Given the description of an element on the screen output the (x, y) to click on. 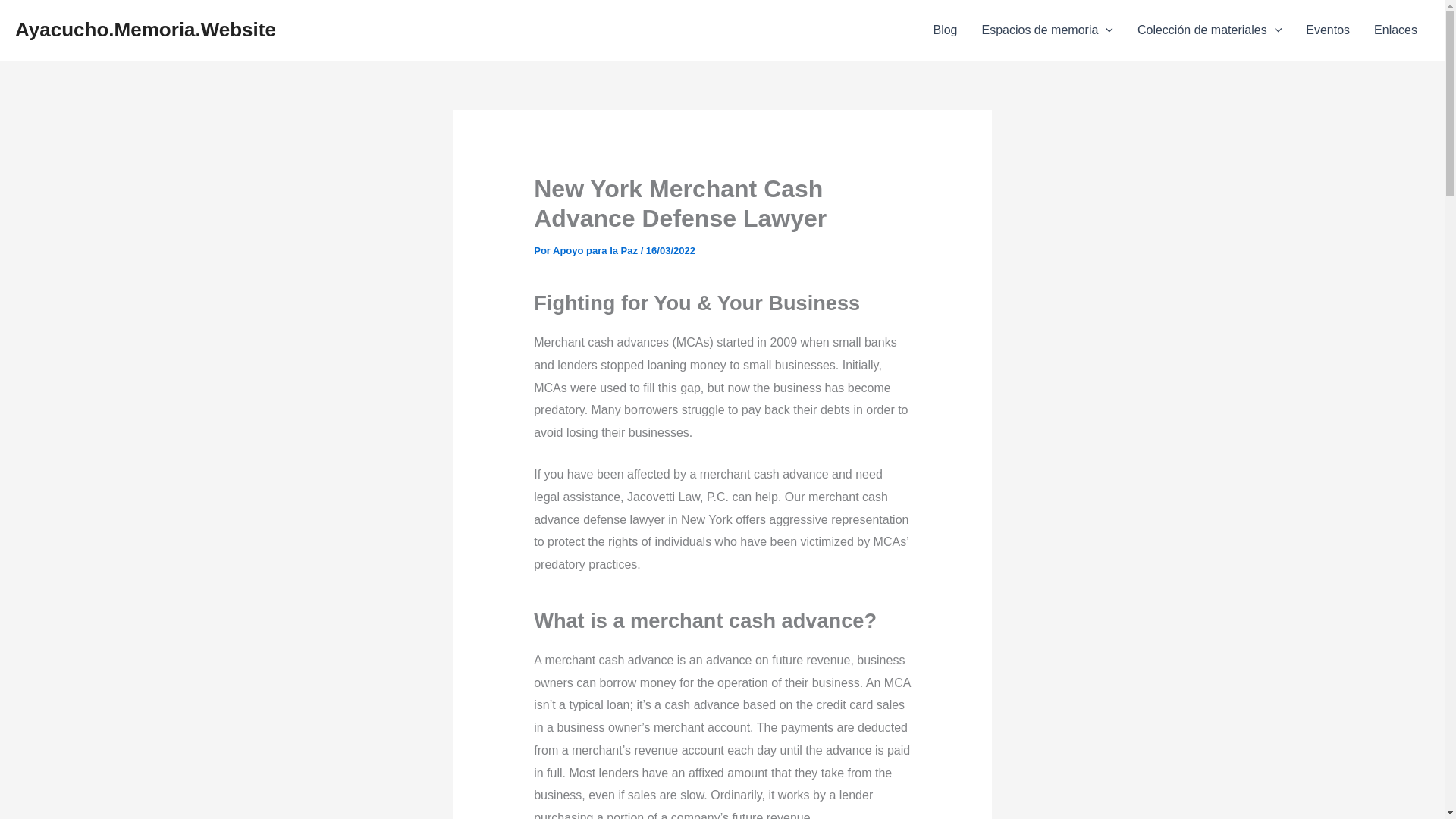
Apoyo para la Paz (596, 250)
Eventos (1327, 30)
Ver todas las entradas de Apoyo para la Paz (596, 250)
Enlaces (1395, 30)
Espacios de memoria (1046, 30)
Ayacucho.Memoria.Website (145, 29)
